Given the description of an element on the screen output the (x, y) to click on. 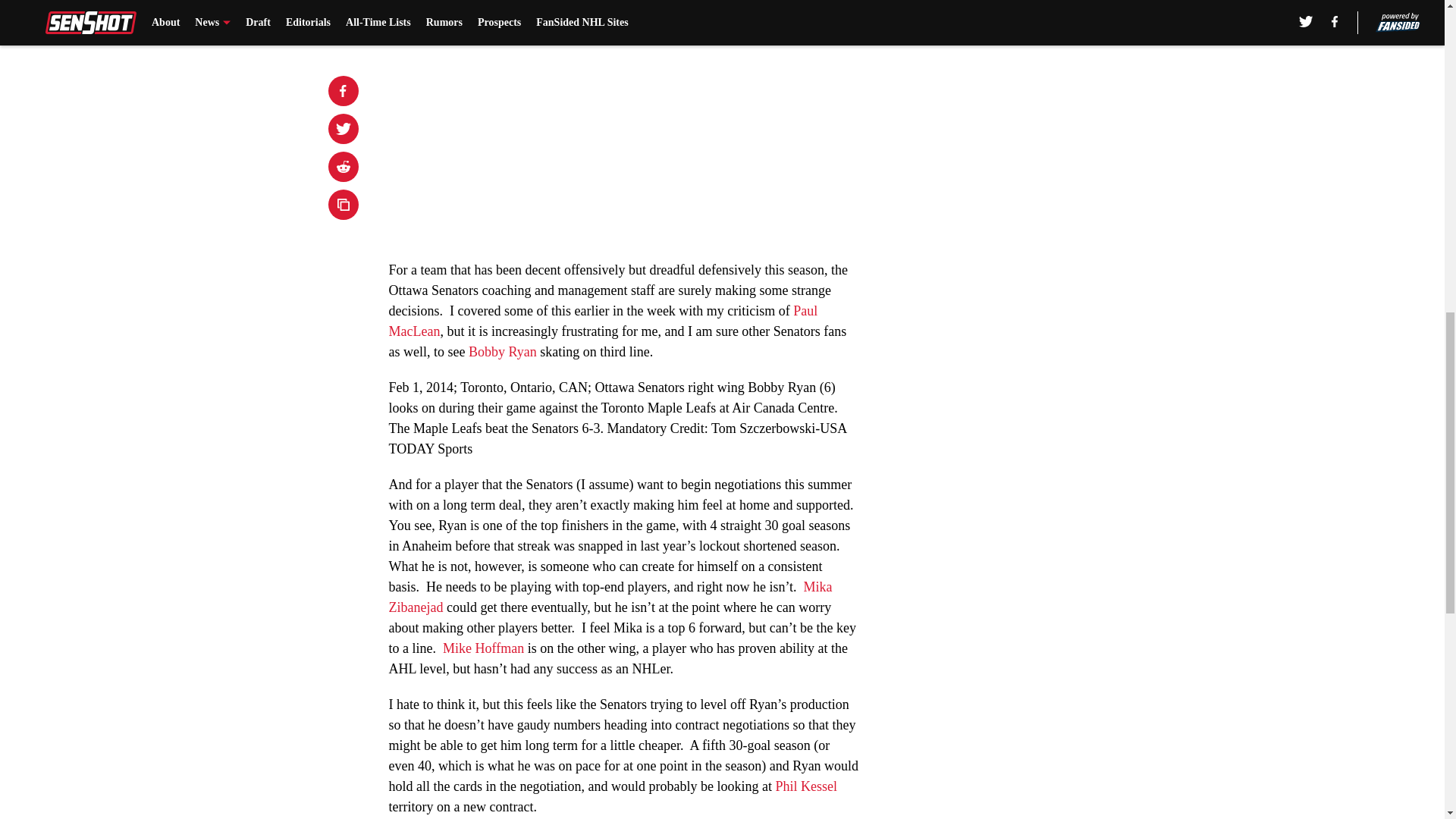
Bobby Ryan (502, 351)
Paul MacLean (602, 321)
Mike Hoffman (483, 648)
Mika Zibanejad (609, 597)
Phil Kessel (805, 785)
